Given the description of an element on the screen output the (x, y) to click on. 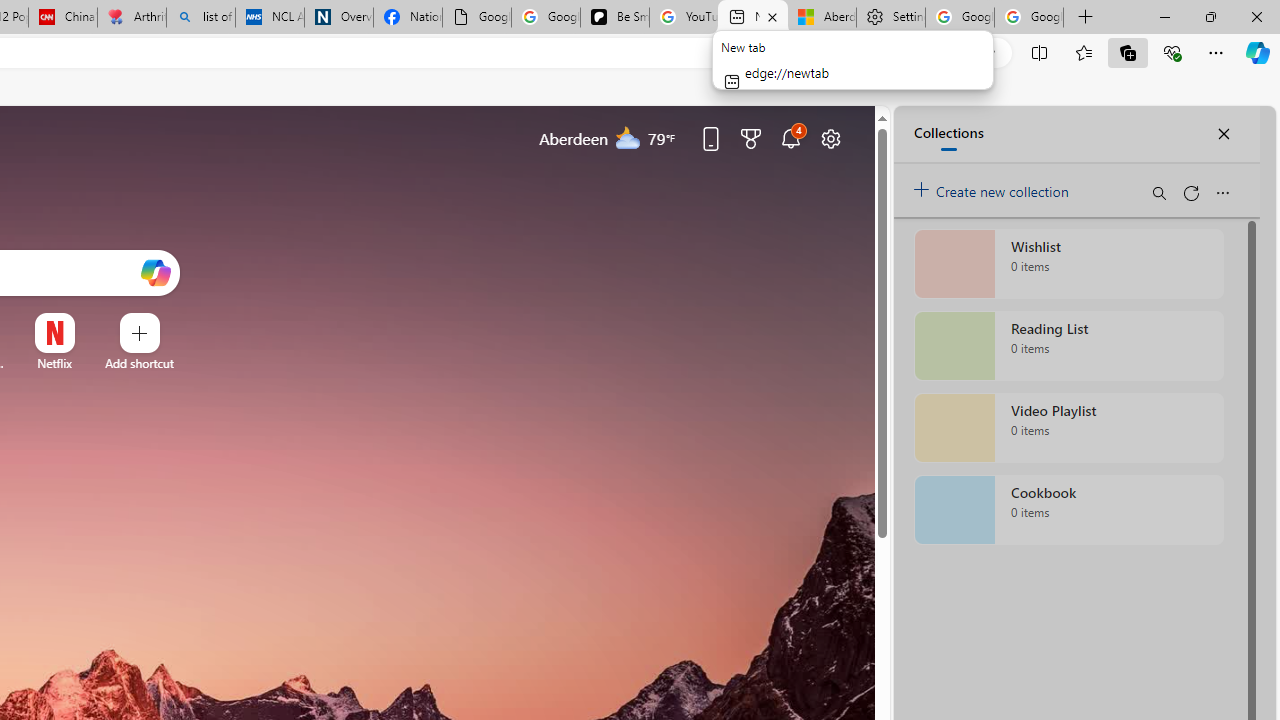
Netflix (54, 363)
Add a site (139, 363)
Mostly cloudy (628, 137)
